Given the description of an element on the screen output the (x, y) to click on. 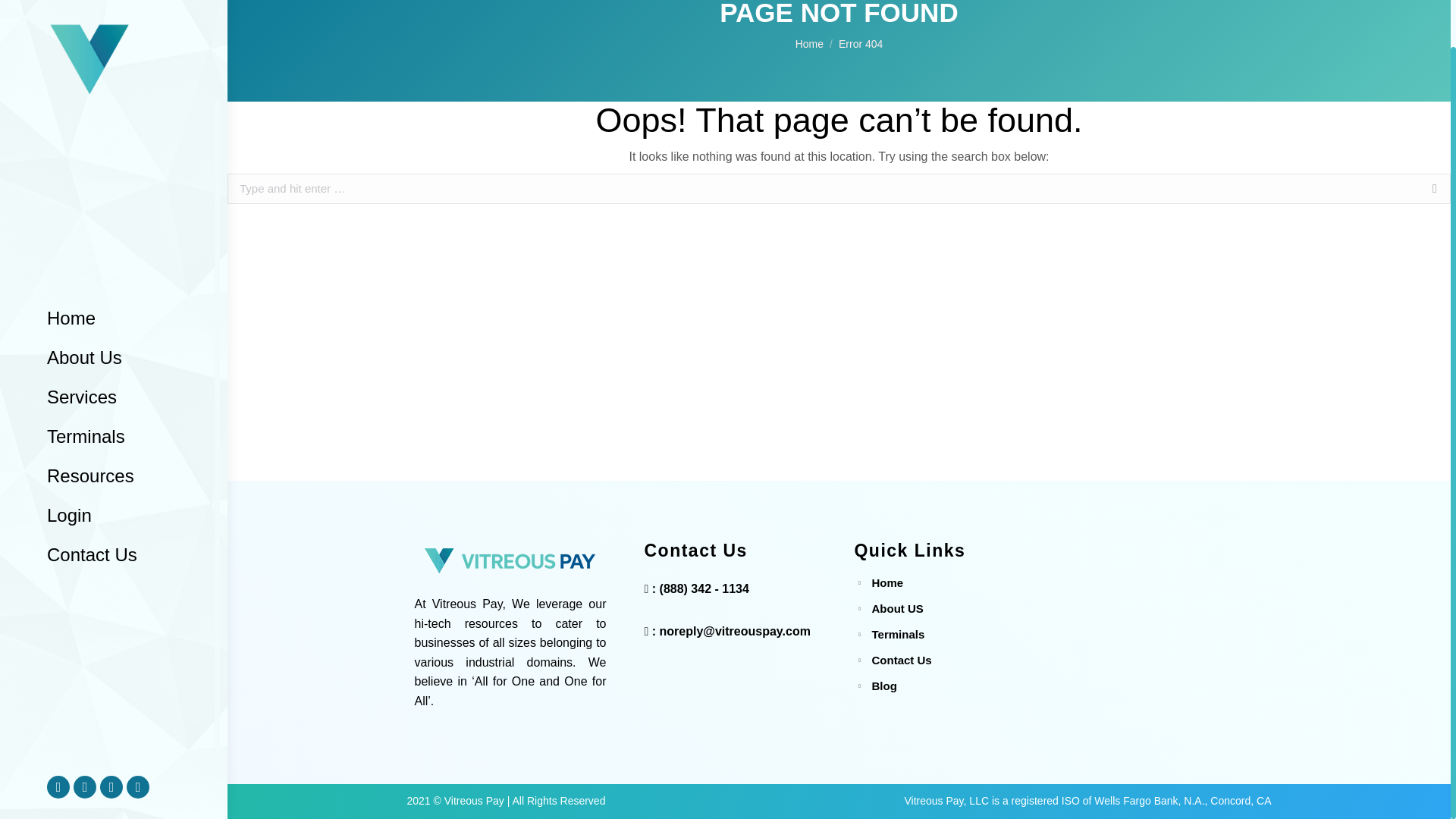
Facebook page opens in new window (57, 736)
Home (809, 43)
Twitter page opens in new window (85, 736)
Terminals (85, 386)
Contact Us (92, 504)
Login (68, 465)
YouTube page opens in new window (137, 736)
Home (70, 268)
Services (81, 346)
Resources (89, 425)
